Given the description of an element on the screen output the (x, y) to click on. 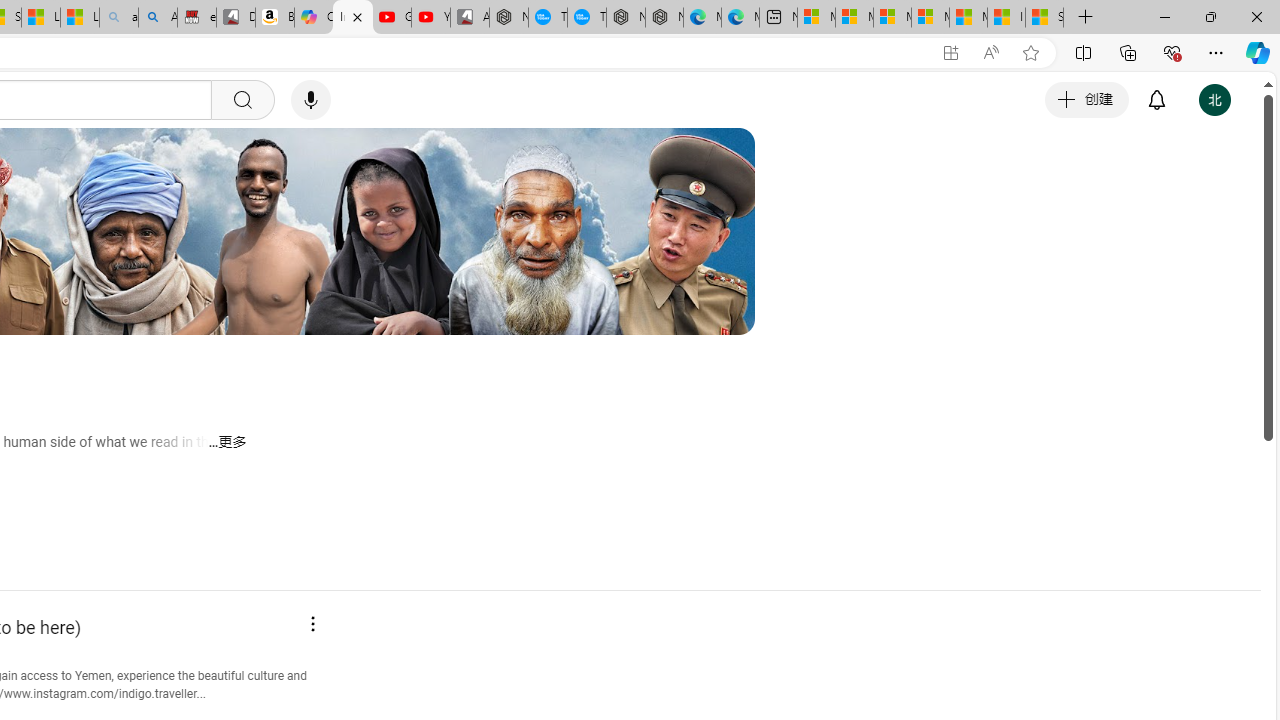
Amazon Echo Dot PNG - Search Images (157, 17)
Indigo Traveller - YouTube (353, 17)
Copilot (313, 17)
amazon - Search - Sleeping (118, 17)
App available. Install YouTube (950, 53)
